Given the description of an element on the screen output the (x, y) to click on. 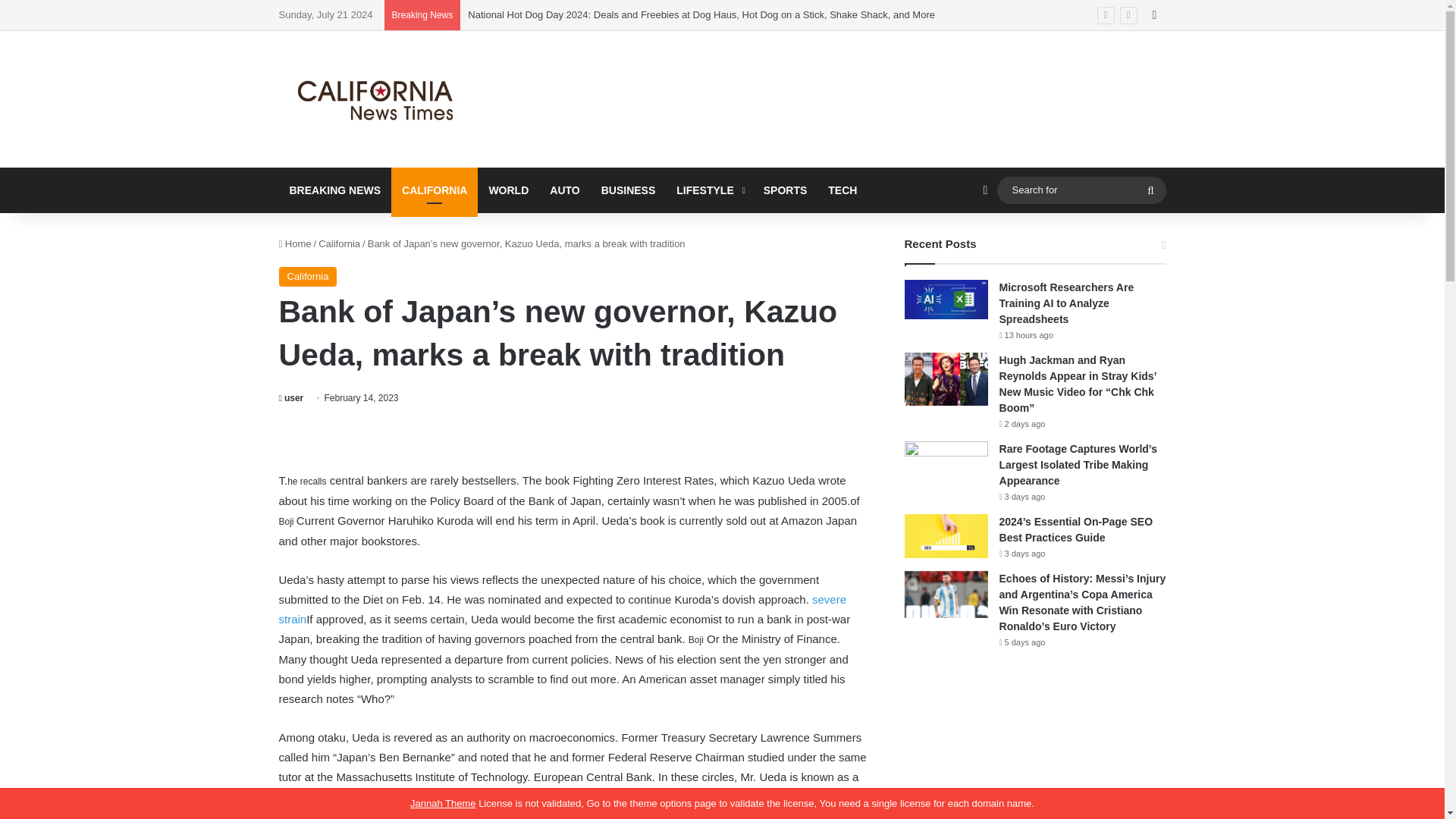
BUSINESS (628, 189)
CALIFORNIA (434, 189)
Californianewstimes.com (377, 99)
LIFESTYLE (708, 189)
California (308, 276)
user (291, 398)
severe strain (563, 608)
SPORTS (785, 189)
BREAKING NEWS (335, 189)
Search for (1080, 189)
user (291, 398)
Jannah Theme (443, 803)
TECH (841, 189)
California (338, 243)
Home (295, 243)
